Given the description of an element on the screen output the (x, y) to click on. 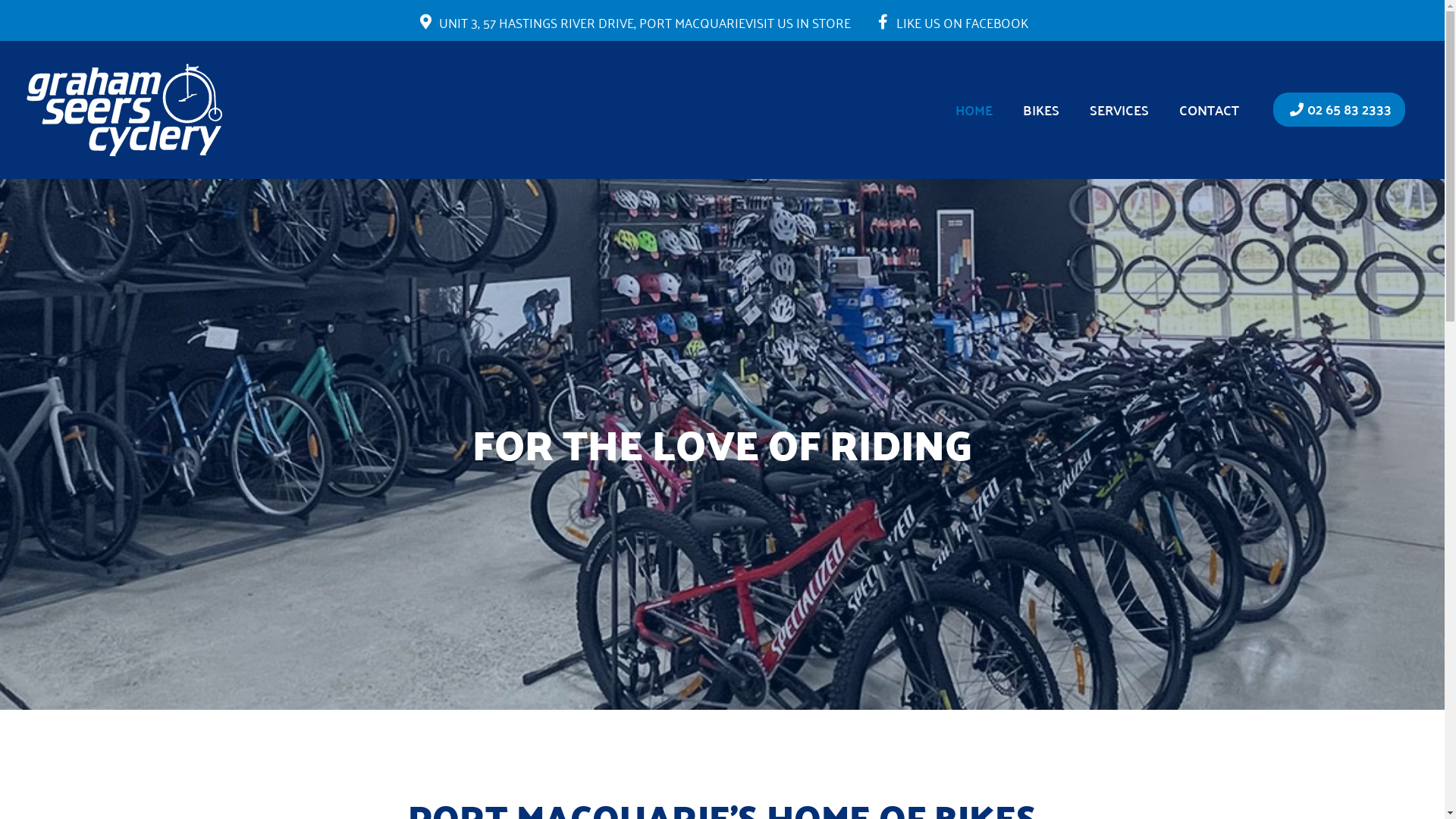
VISIT US IN STORE Element type: text (797, 21)
SERVICES Element type: text (1118, 109)
HOME Element type: text (973, 109)
UNIT 3, 57 HASTINGS RIVER DRIVE, PORT MACQUARIE Element type: text (592, 21)
BIKES Element type: text (1040, 109)
02 65 83 2333 Element type: text (1339, 109)
CONTACT Element type: text (1208, 109)
LIKE US ON FACEBOOK Element type: text (950, 21)
